Given the description of an element on the screen output the (x, y) to click on. 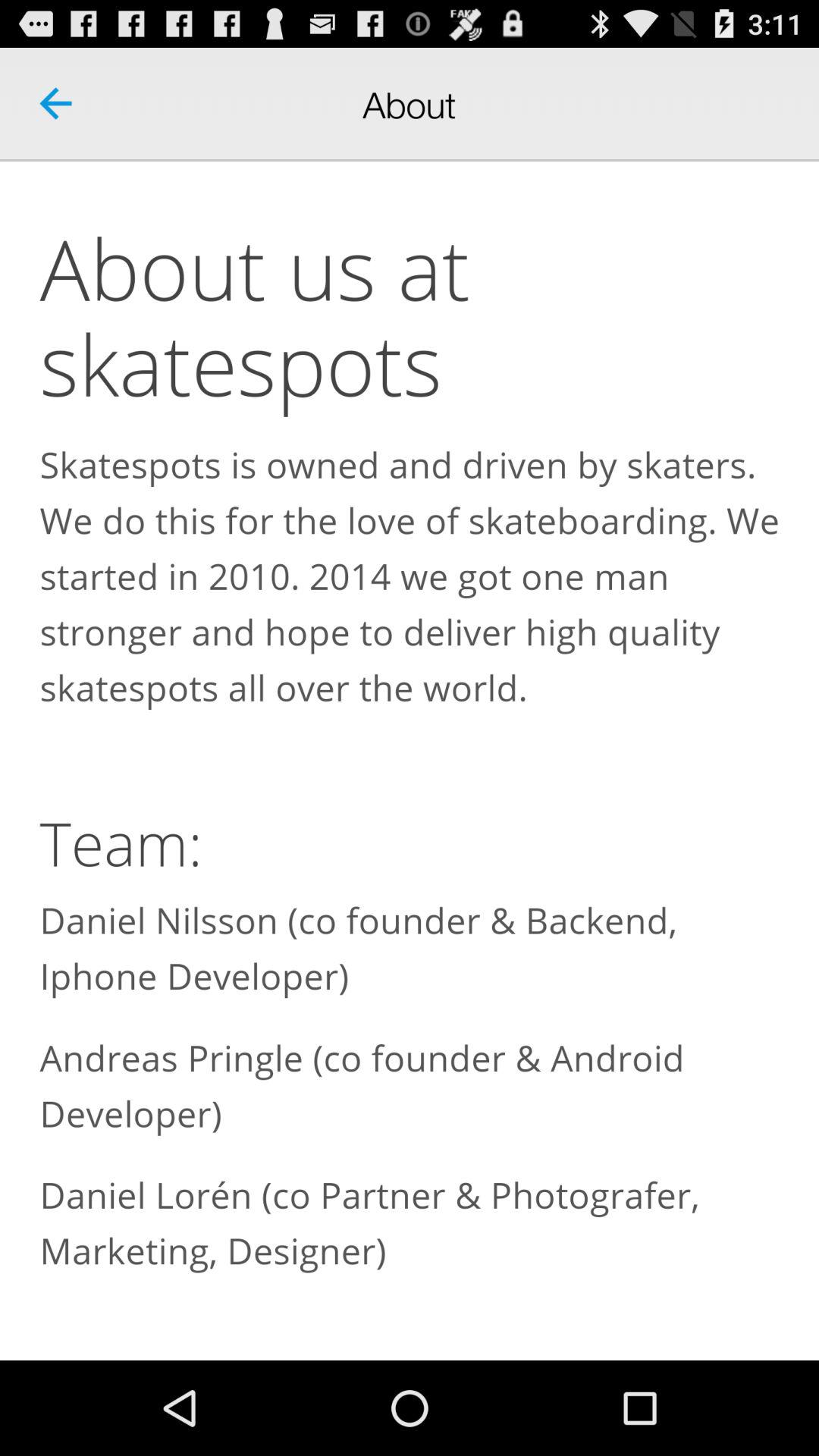
go to about us section (409, 760)
